Given the description of an element on the screen output the (x, y) to click on. 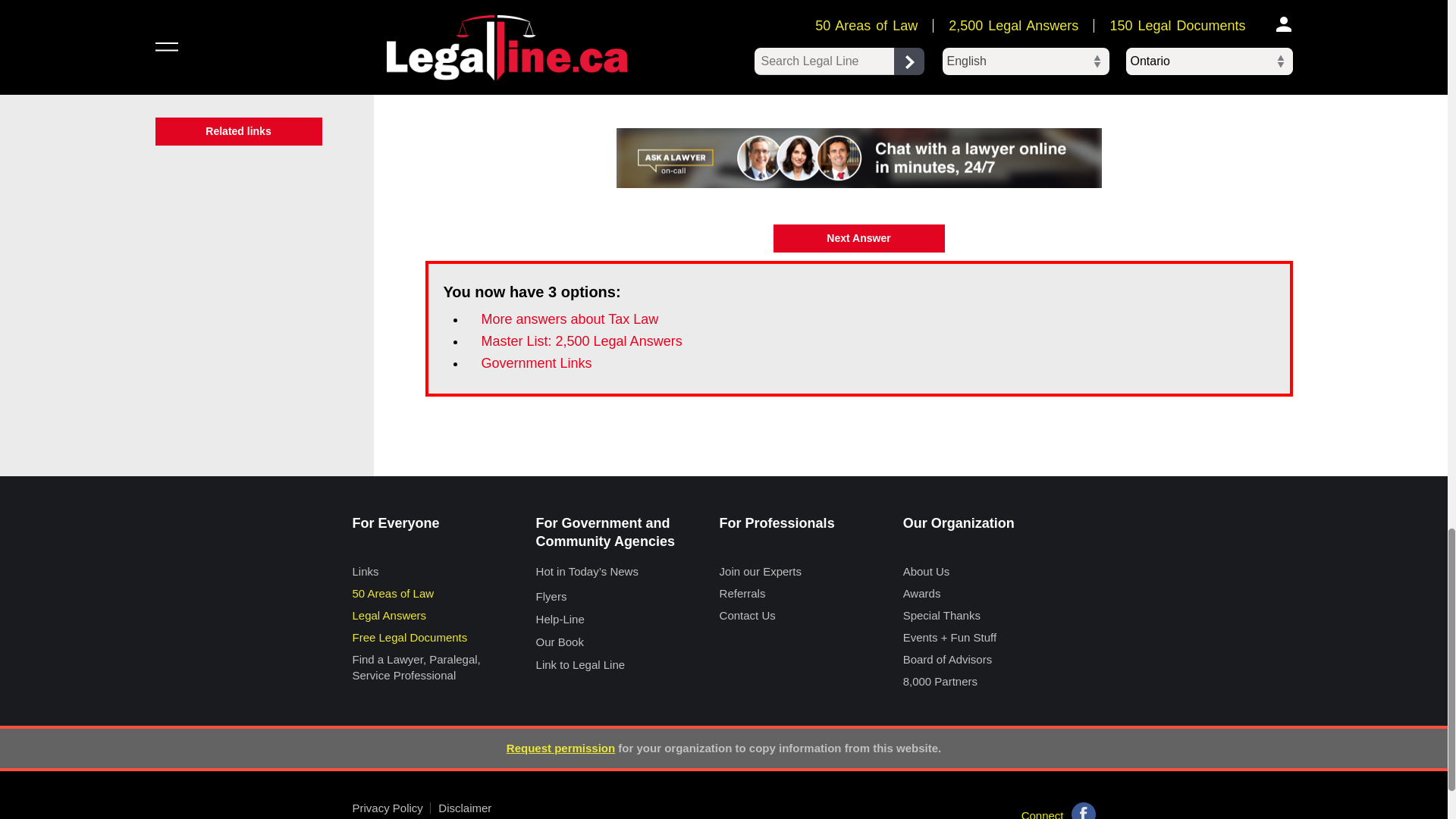
Facebook (1082, 810)
Tax Chambers Tax Law Ontario All Topics Sept 2017 (858, 22)
Call a lawyer (858, 157)
